Given the description of an element on the screen output the (x, y) to click on. 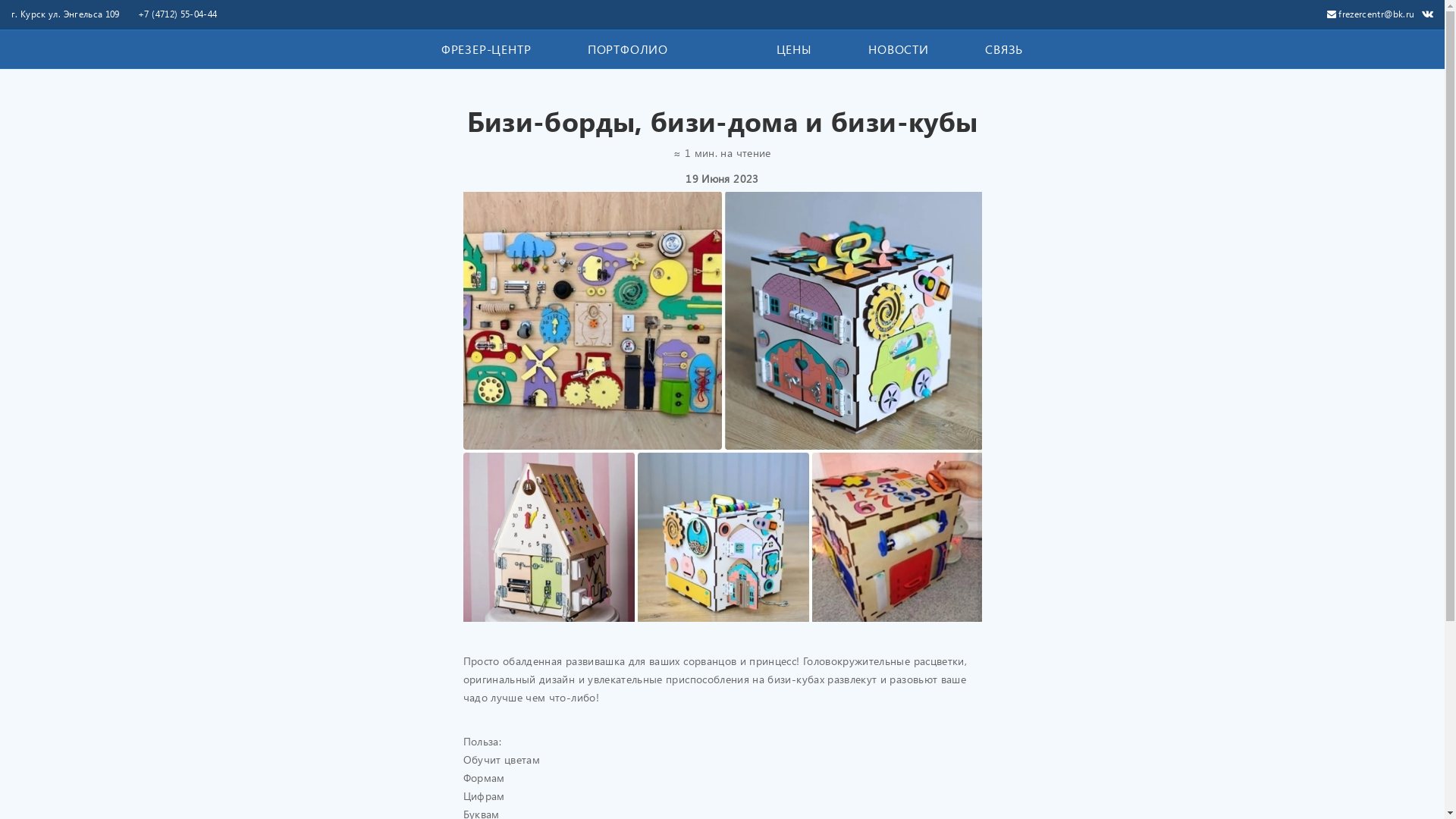
+7 (4712) 55-04-44 Element type: text (177, 13)
frezercentr@bk.ru Element type: text (1371, 13)
